Given the description of an element on the screen output the (x, y) to click on. 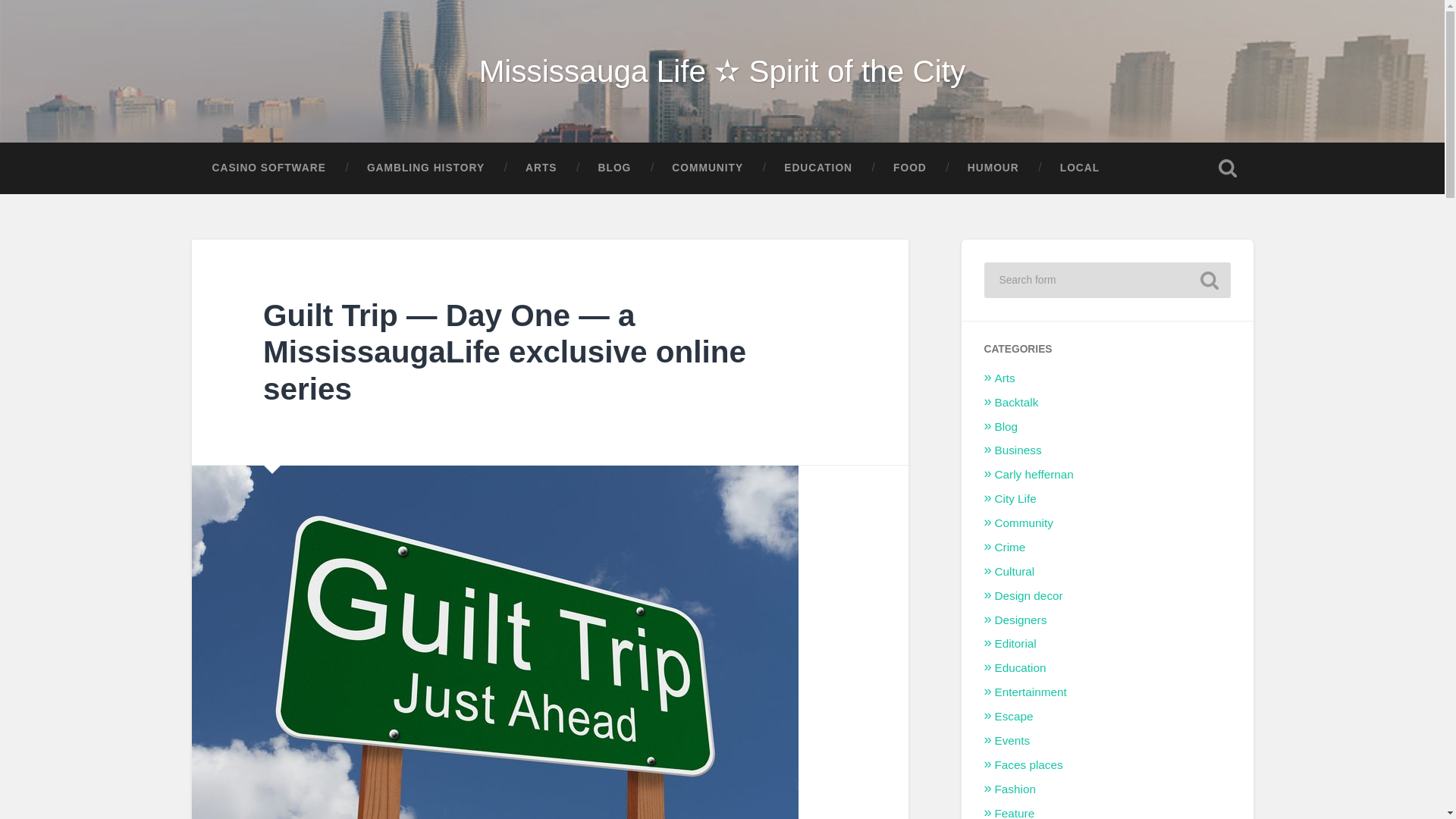
Search (1209, 280)
Community (1023, 522)
Search (1209, 280)
FOOD (909, 168)
Business (1018, 449)
Search (1209, 280)
COMMUNITY (706, 168)
Arts (1004, 377)
EDUCATION (817, 168)
City Life (1015, 498)
HUMOUR (993, 168)
ARTS (540, 168)
Carly heffernan (1034, 473)
Blog (1005, 426)
CASINO SOFTWARE (268, 168)
